Given the description of an element on the screen output the (x, y) to click on. 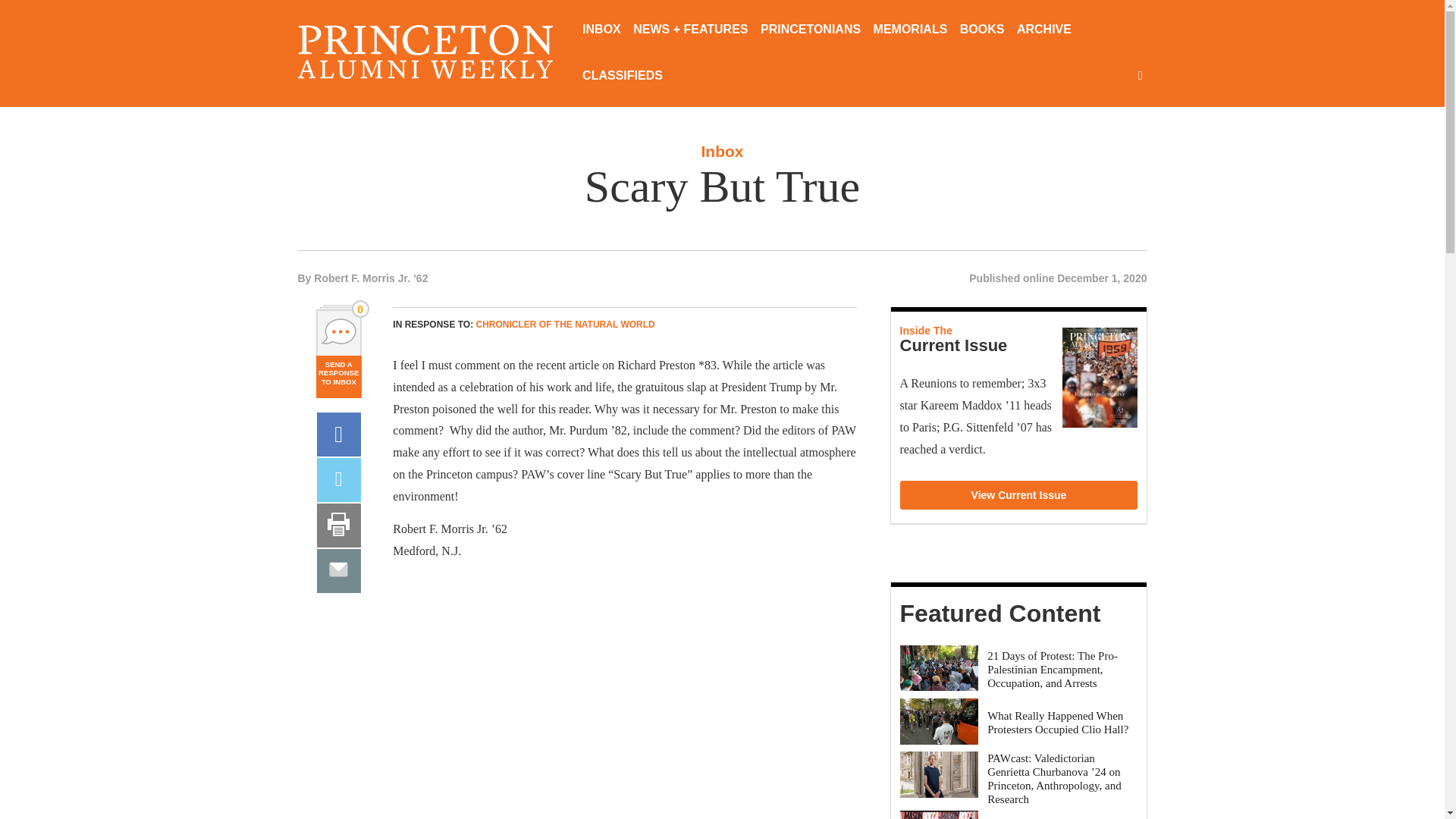
ARCHIVE (1043, 30)
BOOKS (982, 30)
SEND A RESPONSE TO INBOX (338, 376)
PRINCETONIANS (809, 30)
INBOX (602, 30)
CLASSIFIEDS (622, 76)
CHRONICLER OF THE NATURAL WORLD (565, 324)
MEMORIALS (910, 30)
View Current Issue (1018, 494)
